Given the description of an element on the screen output the (x, y) to click on. 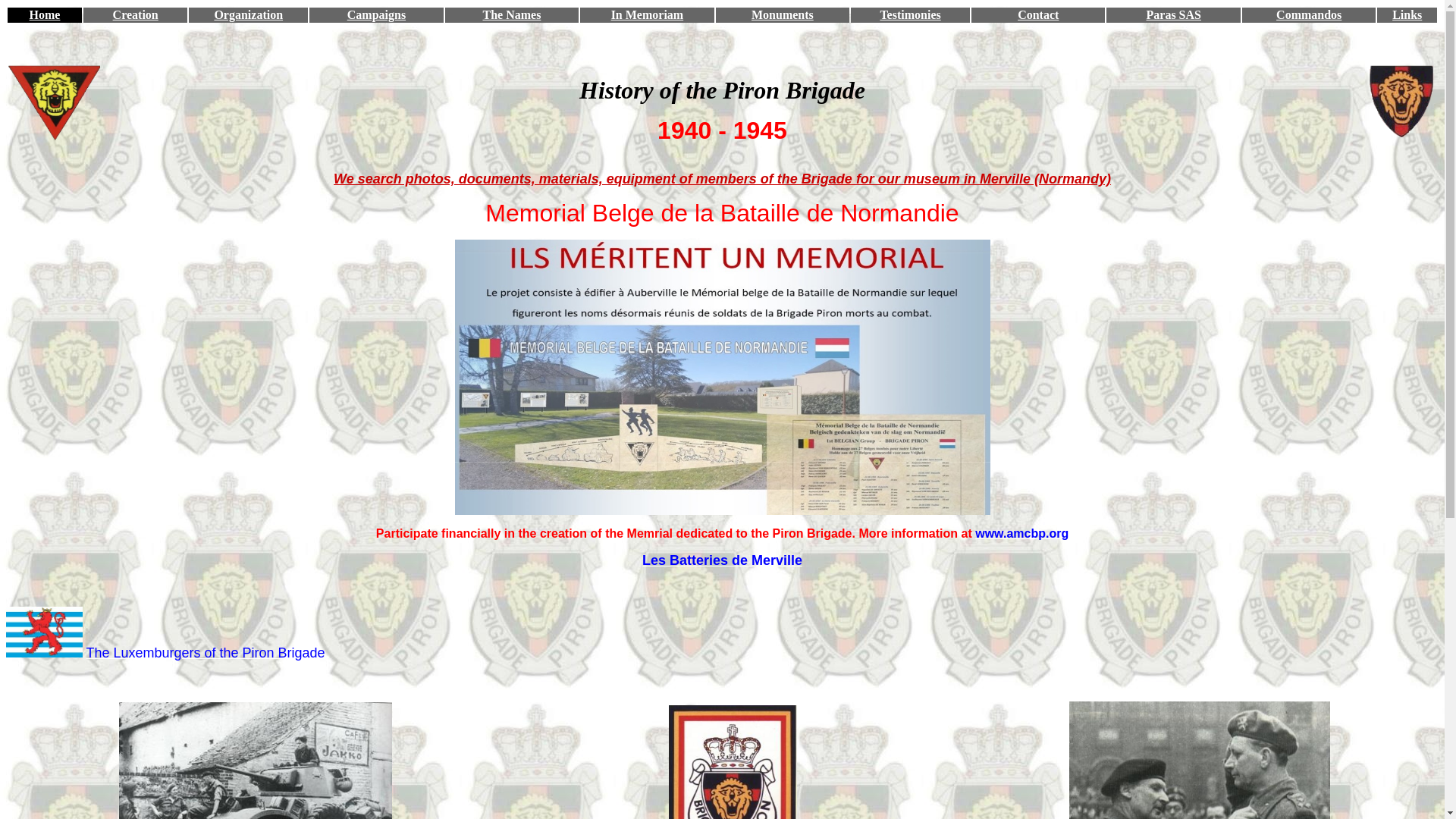
Les Batteries de Merville Element type: text (722, 559)
www.amcbp.org Element type: text (1021, 533)
Contact Element type: text (1037, 14)
The Luxemburgers of the Piron Brigade Element type: text (204, 652)
Monuments Element type: text (782, 14)
Testimonies Element type: text (909, 14)
In Memoriam Element type: text (647, 14)
Campaigns Element type: text (376, 14)
Commandos Element type: text (1308, 14)
Home Element type: text (44, 14)
Organization Element type: text (247, 14)
The Names Element type: text (511, 14)
Links Element type: text (1406, 14)
Paras SAS Element type: text (1173, 14)
Creation Element type: text (135, 14)
